Given the description of an element on the screen output the (x, y) to click on. 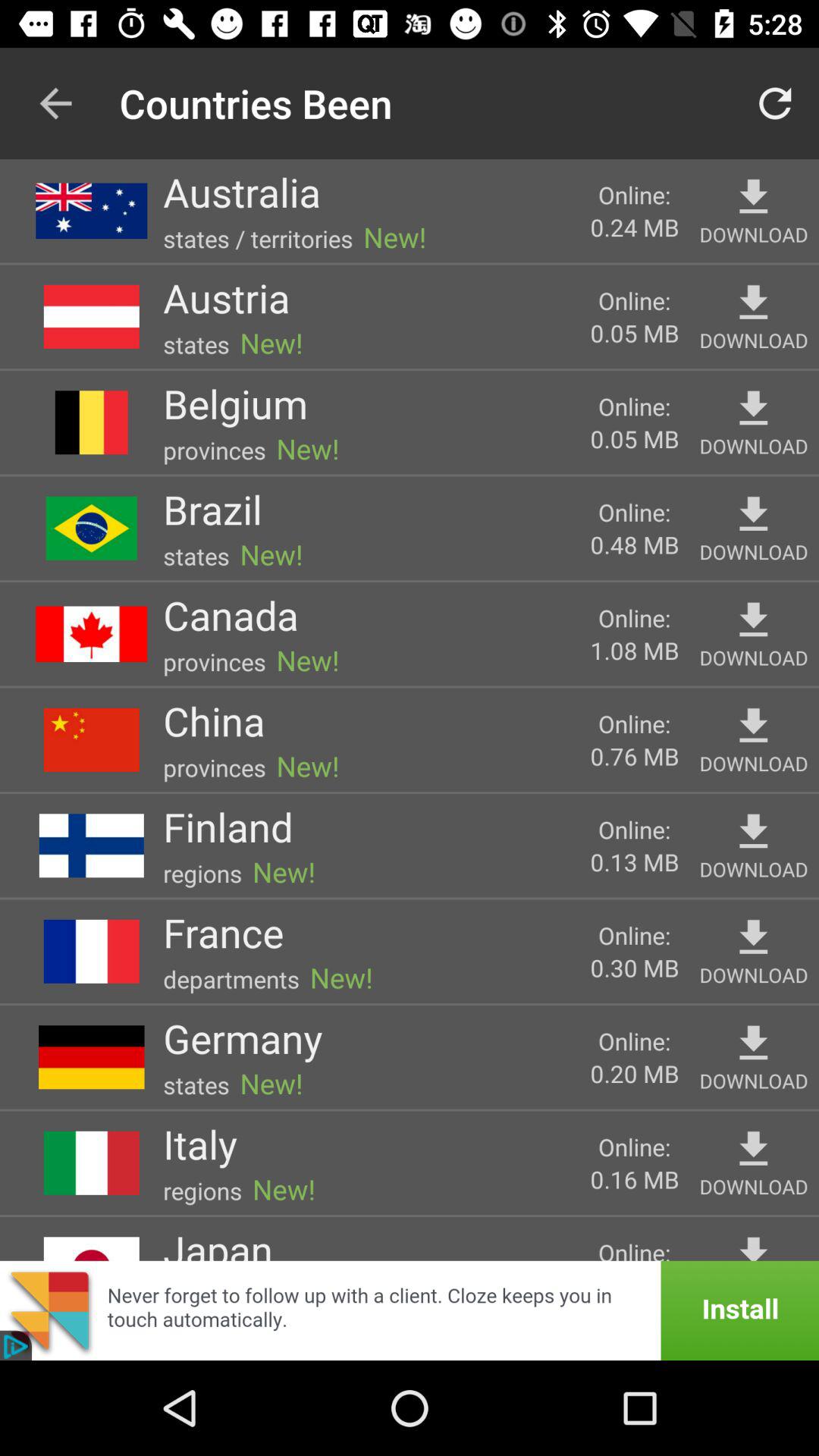
flip to the germany icon (242, 1037)
